Given the description of an element on the screen output the (x, y) to click on. 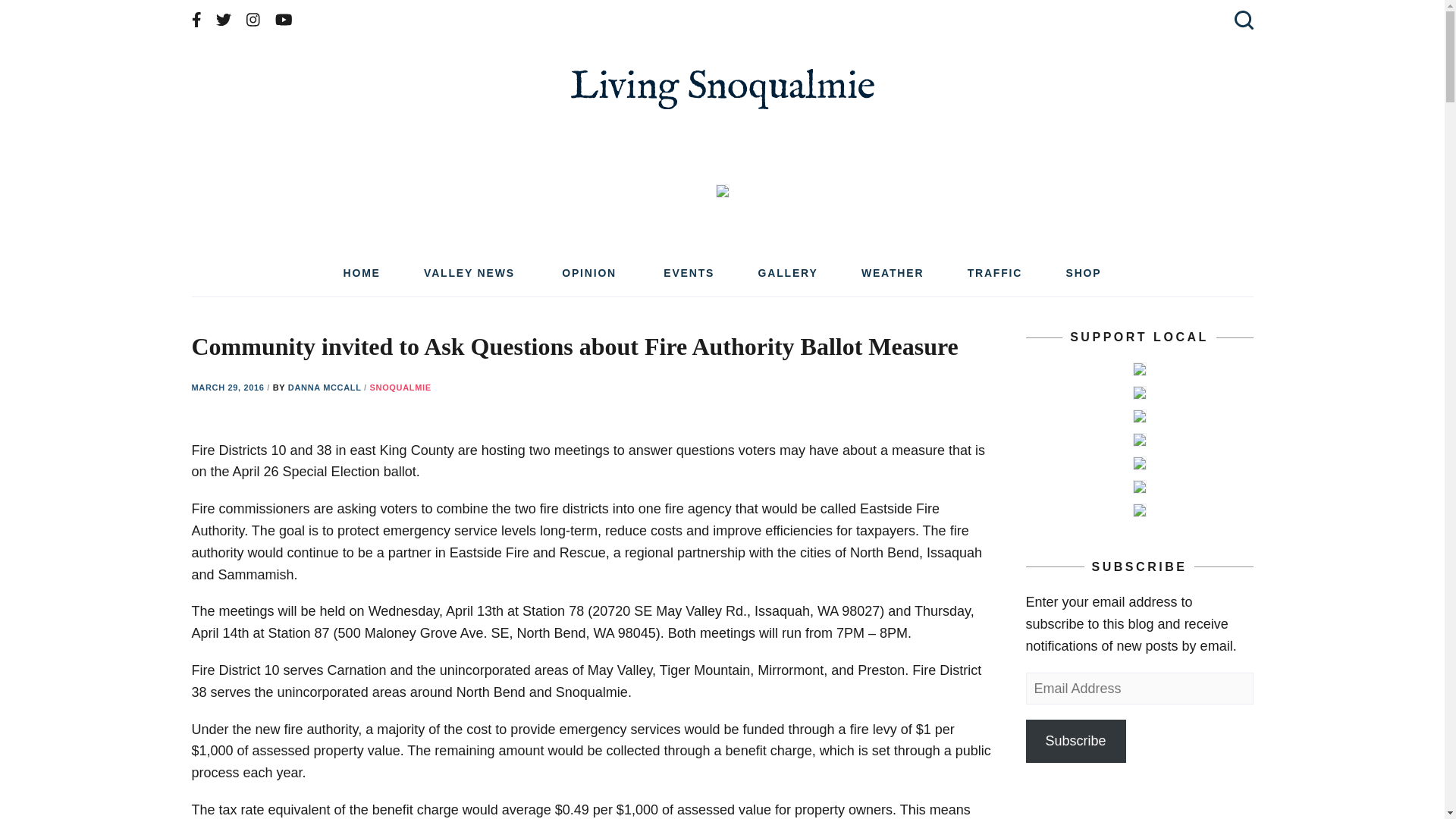
SNOQUALMIE (399, 387)
Instagram (253, 19)
VALLEY NEWS (470, 278)
TRAFFIC (995, 278)
HOME (361, 278)
YouTube (283, 19)
SEARCH (1240, 19)
WEATHER (892, 278)
Twitter (223, 19)
EVENTS (688, 278)
SHOP (1083, 278)
GALLERY (788, 278)
Facebook (195, 19)
DANNA MCCALL (326, 387)
OPINION (591, 278)
